Given the description of an element on the screen output the (x, y) to click on. 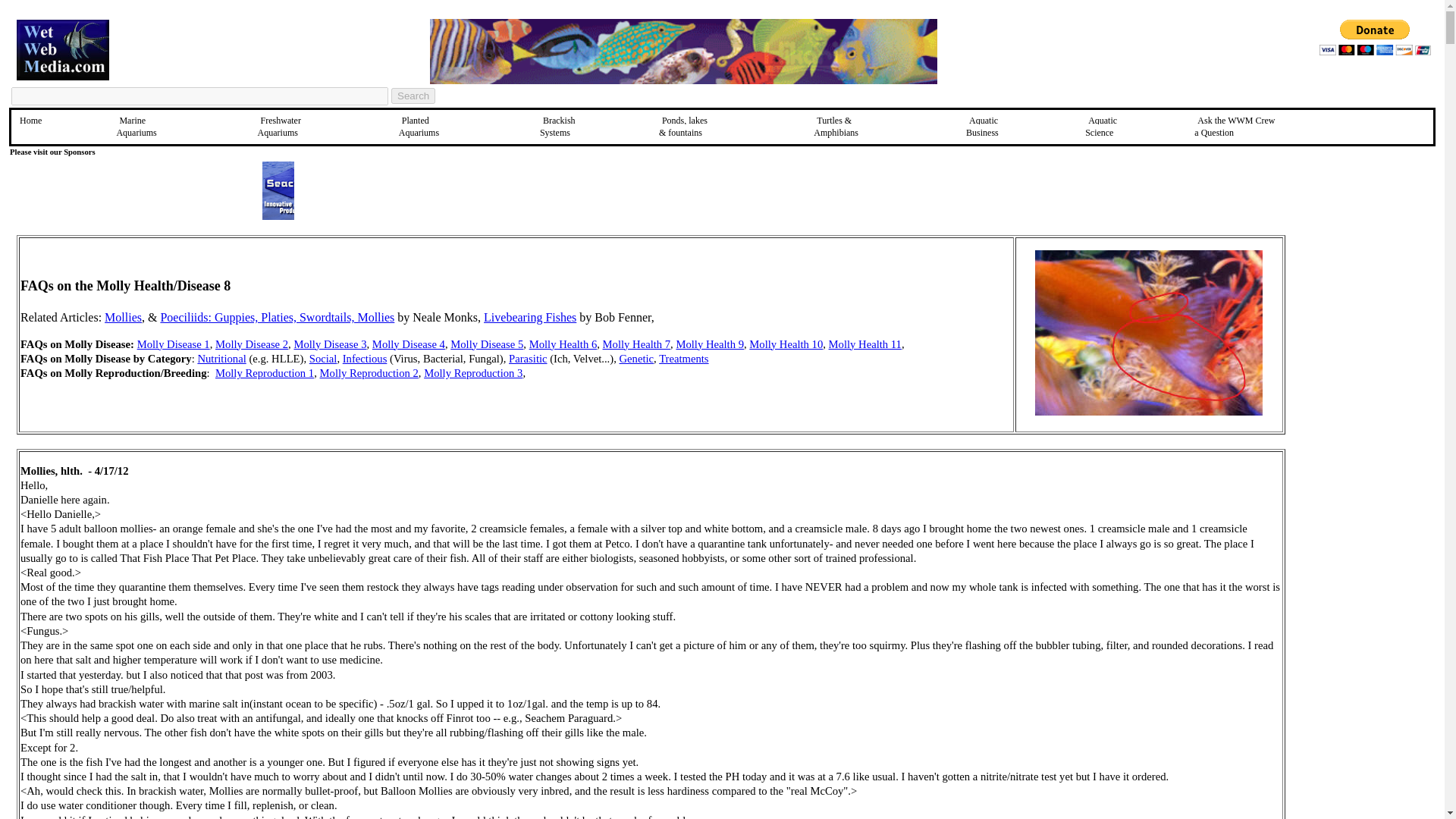
Poeciliids: Guppies, Platies, Swordtails, Mollies (277, 317)
Nutritional (420, 126)
Molly Disease 5 (983, 126)
Molly Disease 1 (221, 358)
Molly Health 7 (485, 344)
Treatments (172, 344)
Molly Reproduction 2 (636, 344)
Parasitic (683, 358)
Molly Reproduction 3 (369, 372)
Molly Health 6 (527, 358)
Search (472, 372)
